Given the description of an element on the screen output the (x, y) to click on. 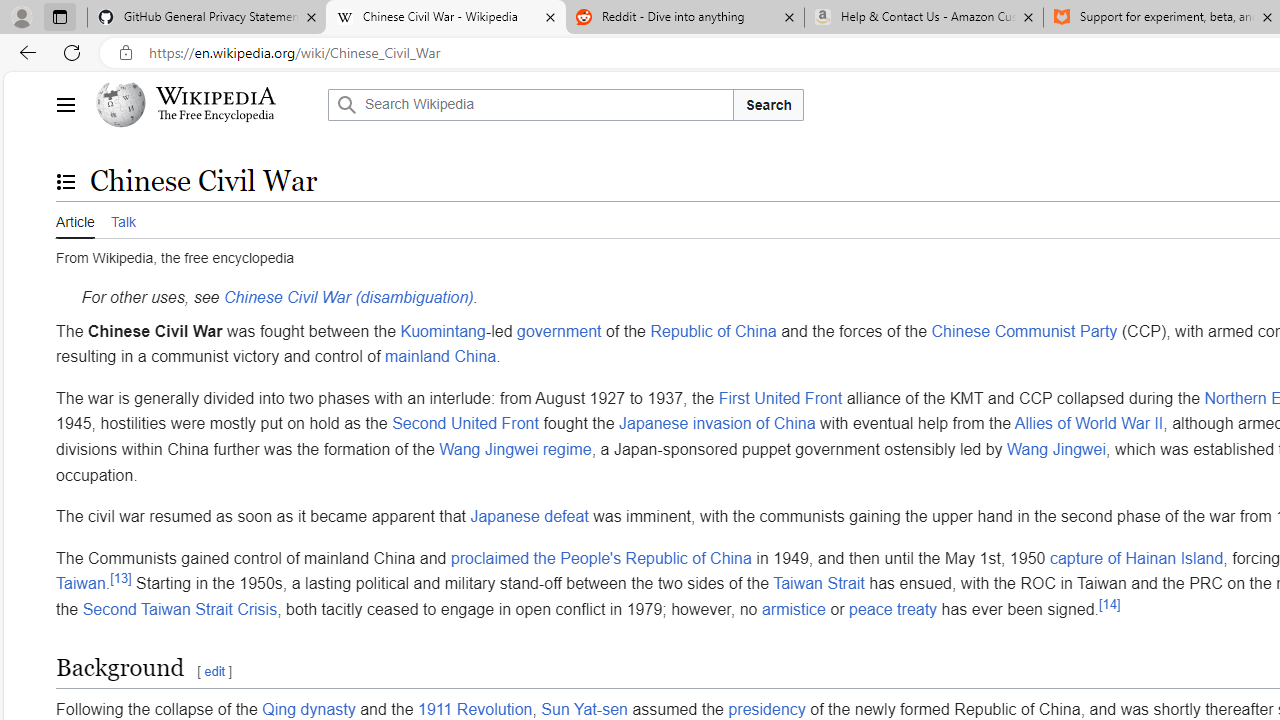
[14] (1110, 604)
Main menu (65, 104)
Search Wikipedia (530, 104)
Wang Jingwei regime (515, 448)
peace treaty (893, 608)
Second Taiwan Strait Crisis (179, 608)
Wang Jingwei (1057, 448)
armistice (793, 608)
Article (75, 219)
Taiwan Strait (819, 584)
Allies of World War II (1088, 423)
Chinese Civil War - Wikipedia (445, 17)
Sun Yat-sen (584, 708)
